Given the description of an element on the screen output the (x, y) to click on. 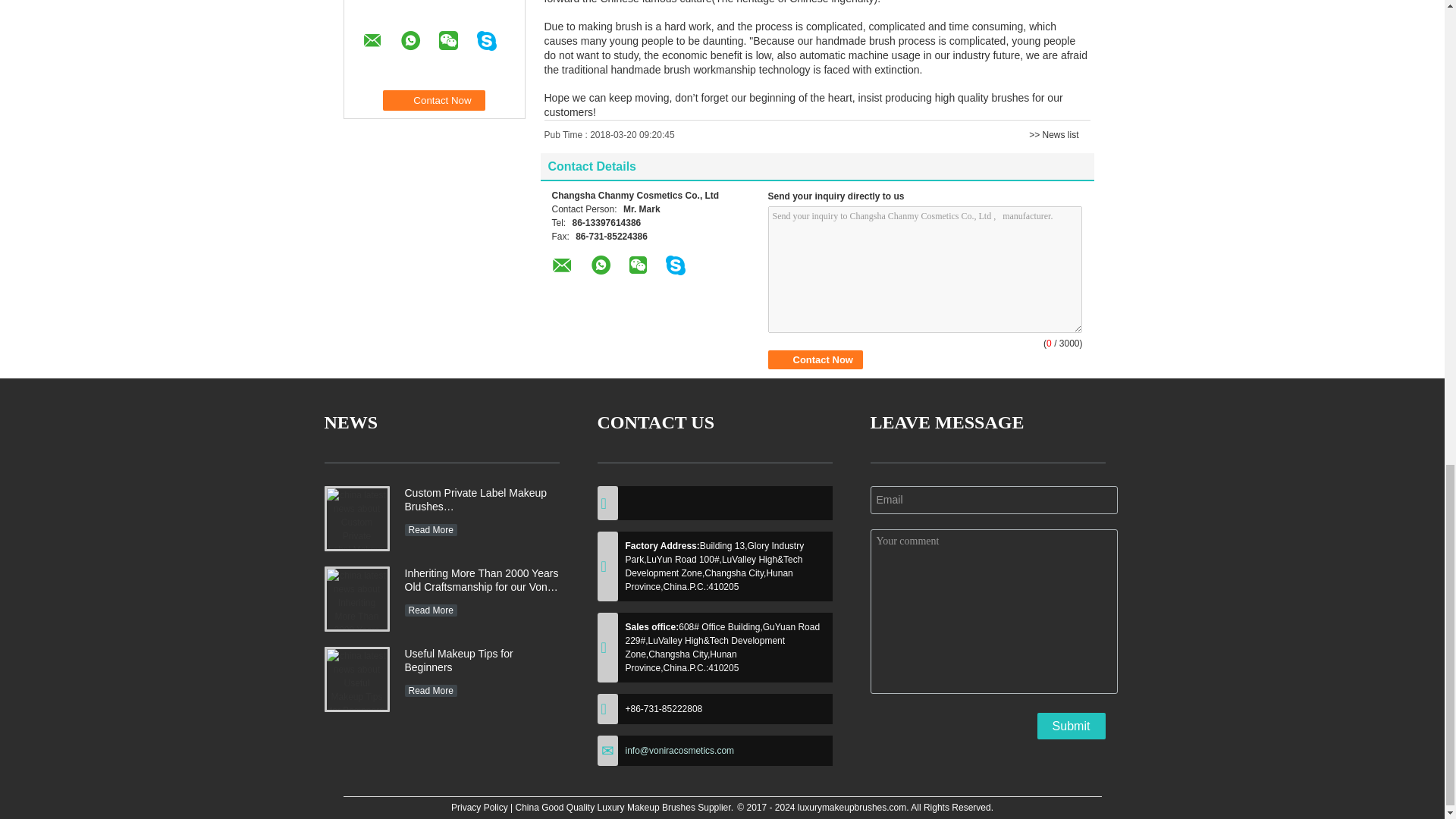
Submit (1070, 725)
Contact Now (814, 359)
Contact Now (433, 100)
